Given the description of an element on the screen output the (x, y) to click on. 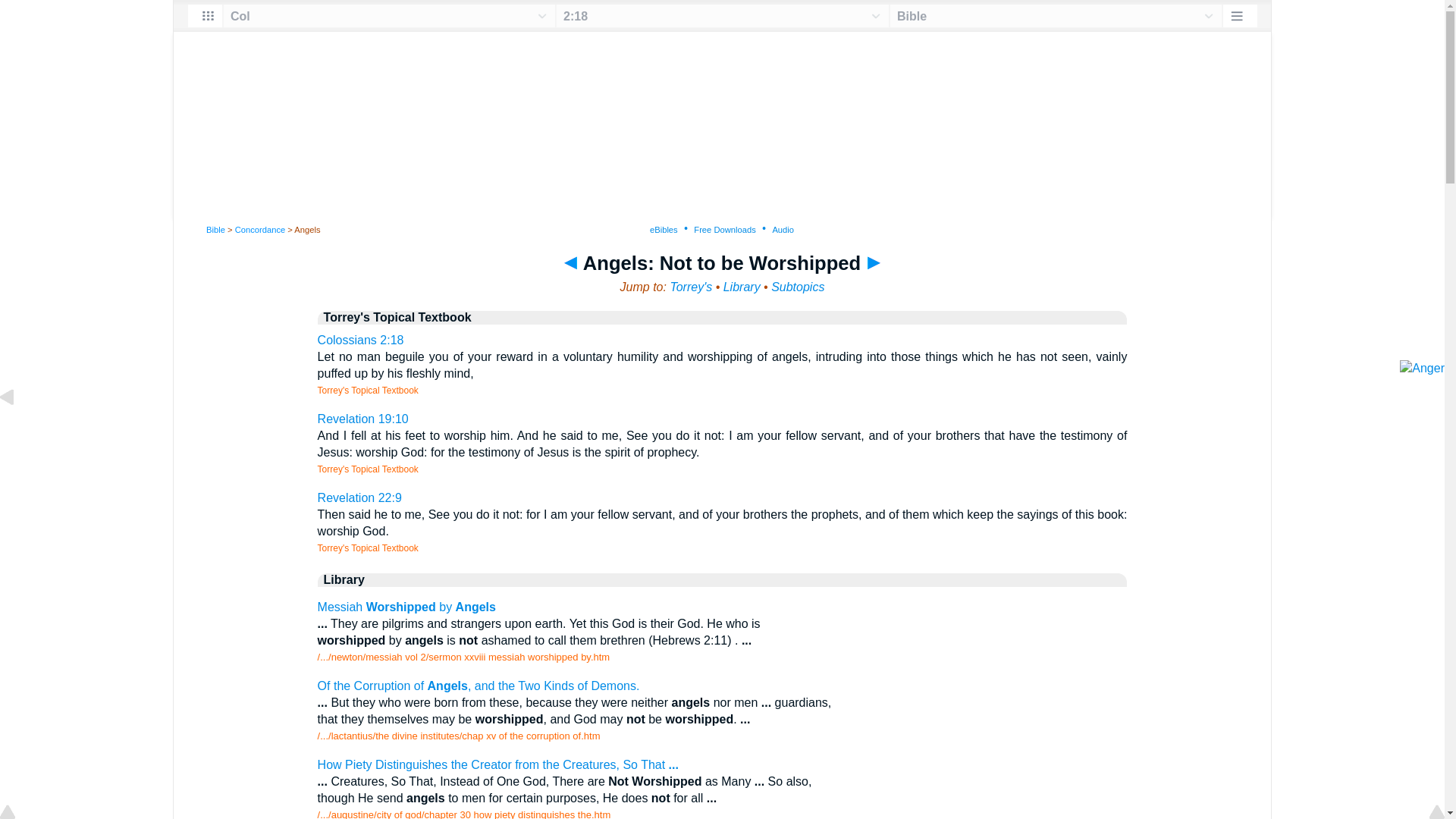
Concordance (259, 229)
Subtopics (797, 286)
Bible (215, 229)
Library (741, 286)
Angels (18, 431)
Revelation 19:10 (363, 418)
Library (741, 286)
Revelation 22:9 (359, 497)
Subtopics (797, 286)
Torrey's (690, 286)
Top of Page (18, 813)
Of the Corruption of Angels, and the Two Kinds of Demons. (478, 685)
Torrey's Topical Index (690, 286)
Messiah Worshipped by Angels (406, 606)
